Given the description of an element on the screen output the (x, y) to click on. 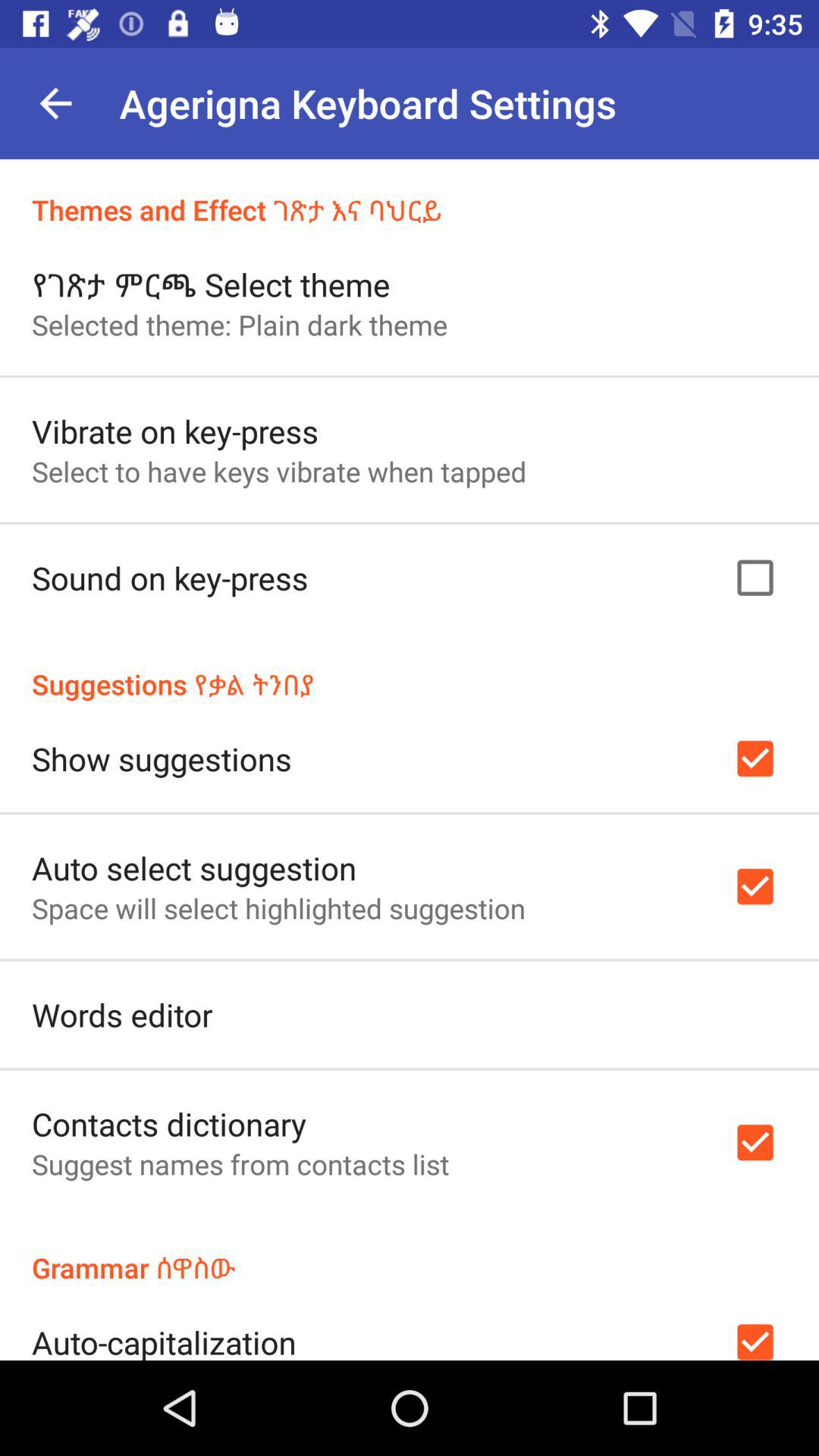
choose the icon to the left of the agerigna keyboard settings app (55, 103)
